Given the description of an element on the screen output the (x, y) to click on. 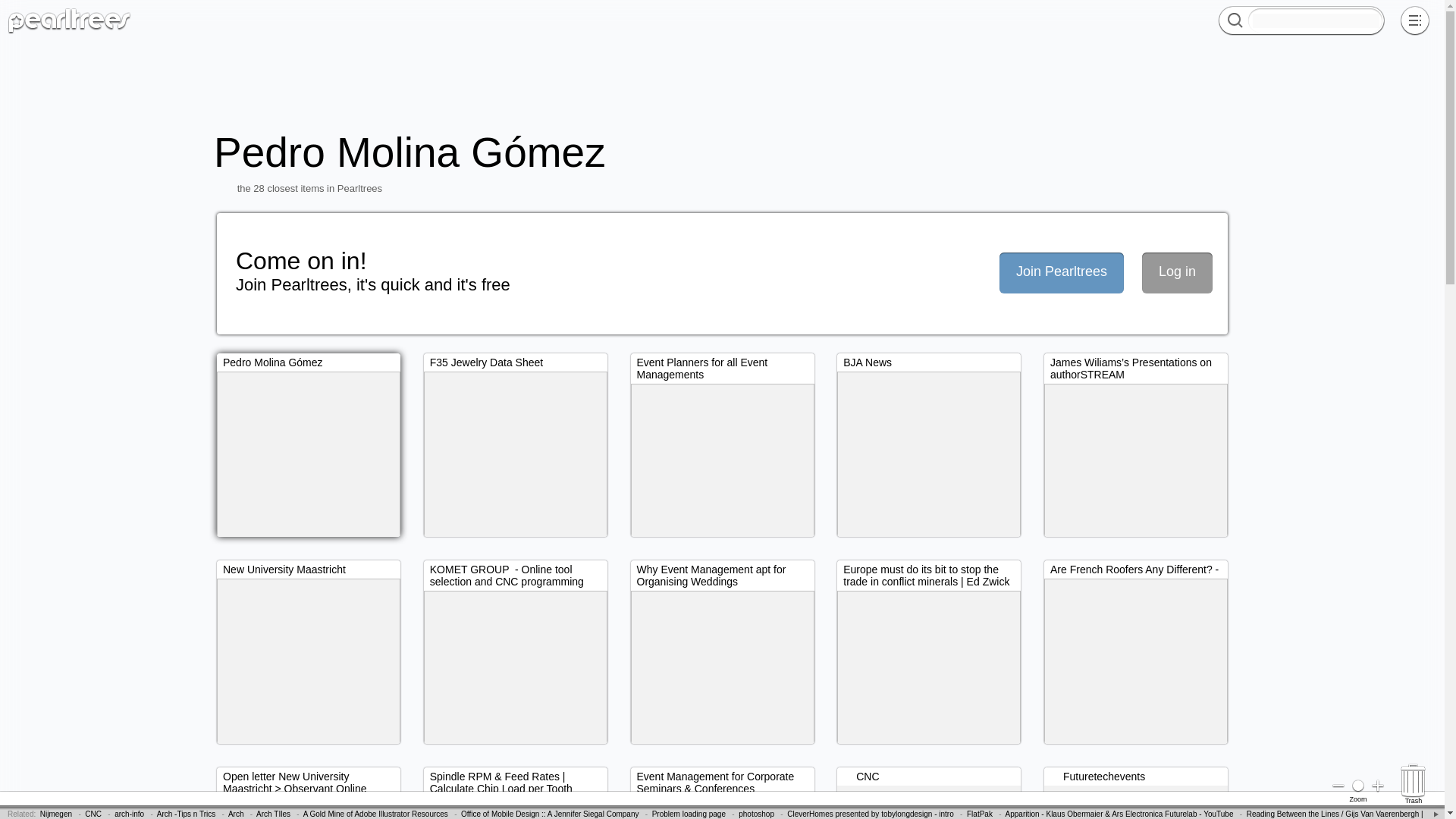
Arch (236, 813)
CNC (92, 813)
A Gold Mine of Adobe Illustrator Resources (375, 813)
CleverHomes presented by tobylongdesign - intro (870, 813)
photoshop (756, 813)
FlatPak (979, 813)
Office of Mobile Design :: A Jennifer Siegal Company (550, 813)
arch-info (129, 813)
Arch -Tips n Trics (186, 813)
Nijmegen (55, 813)
Problem loading page (688, 813)
Arch TIles (272, 813)
